Given the description of an element on the screen output the (x, y) to click on. 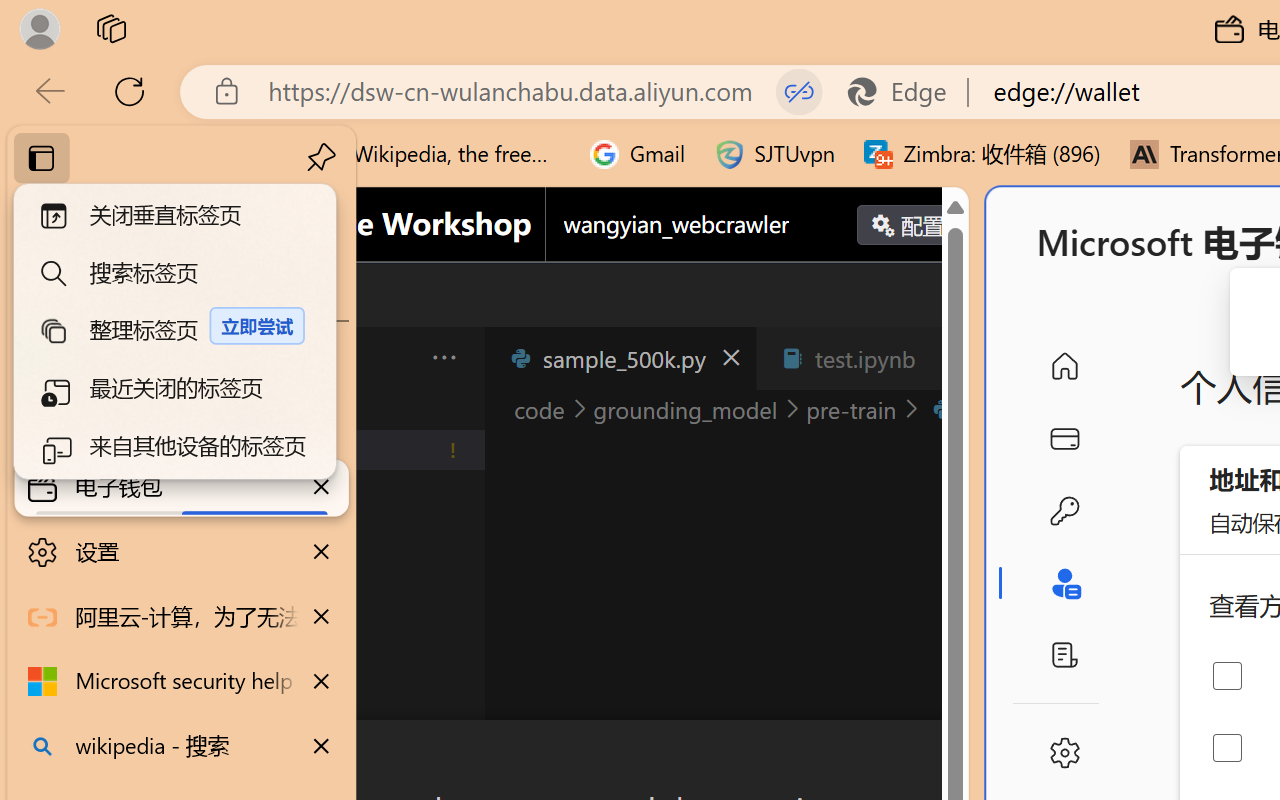
Microsoft security help and learning (181, 681)
Run and Debug (Ctrl+Shift+D) (135, 692)
Source Control (Ctrl+Shift+G) (135, 604)
Gmail (637, 154)
sample_500k.py (619, 358)
Application Menu (135, 358)
